Given the description of an element on the screen output the (x, y) to click on. 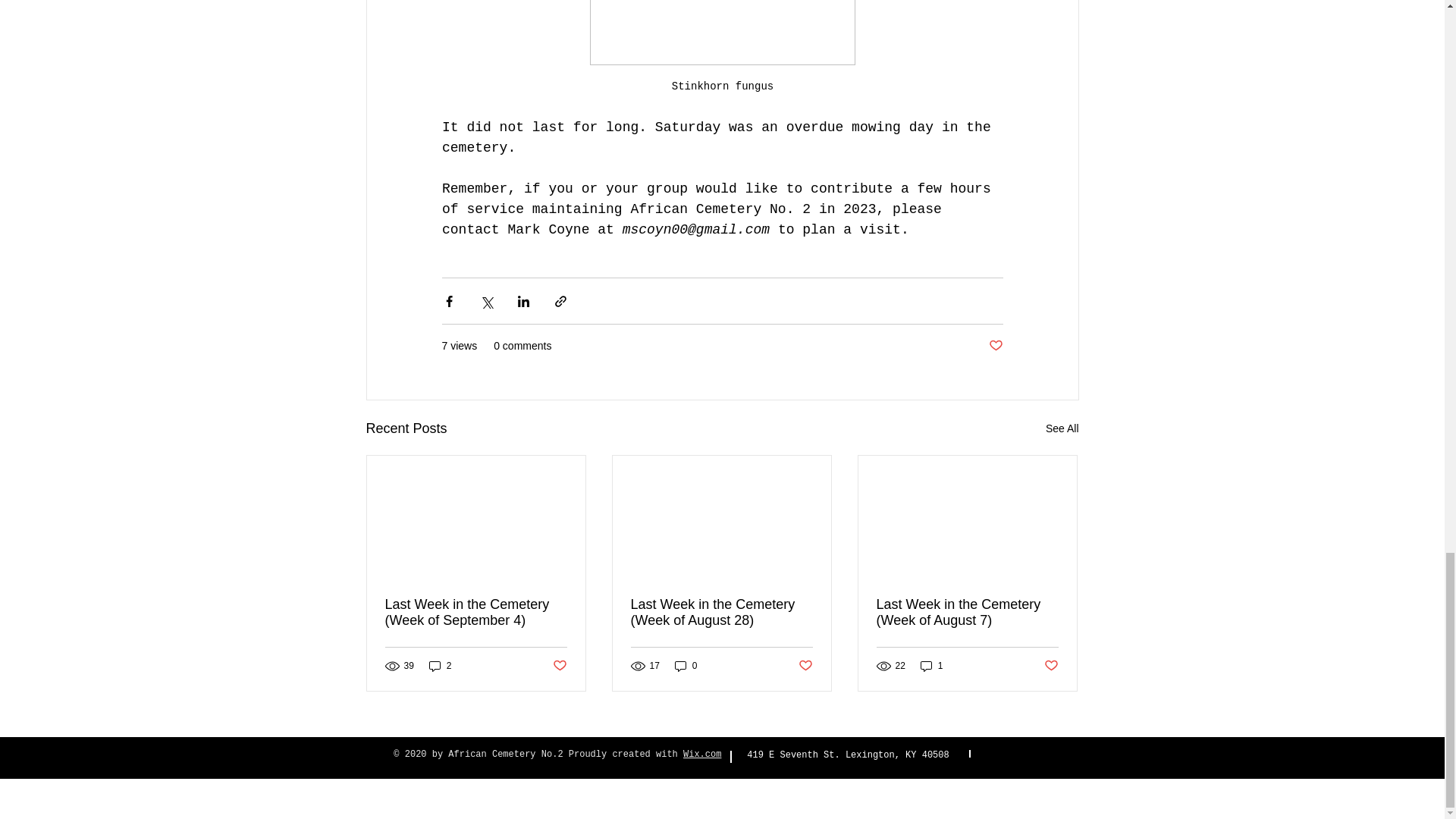
2 (440, 666)
Post not marked as liked (995, 345)
Post not marked as liked (558, 666)
Post not marked as liked (804, 666)
Wix.com (701, 754)
See All (1061, 428)
Post not marked as liked (1050, 666)
1 (931, 666)
0 (685, 666)
